Given the description of an element on the screen output the (x, y) to click on. 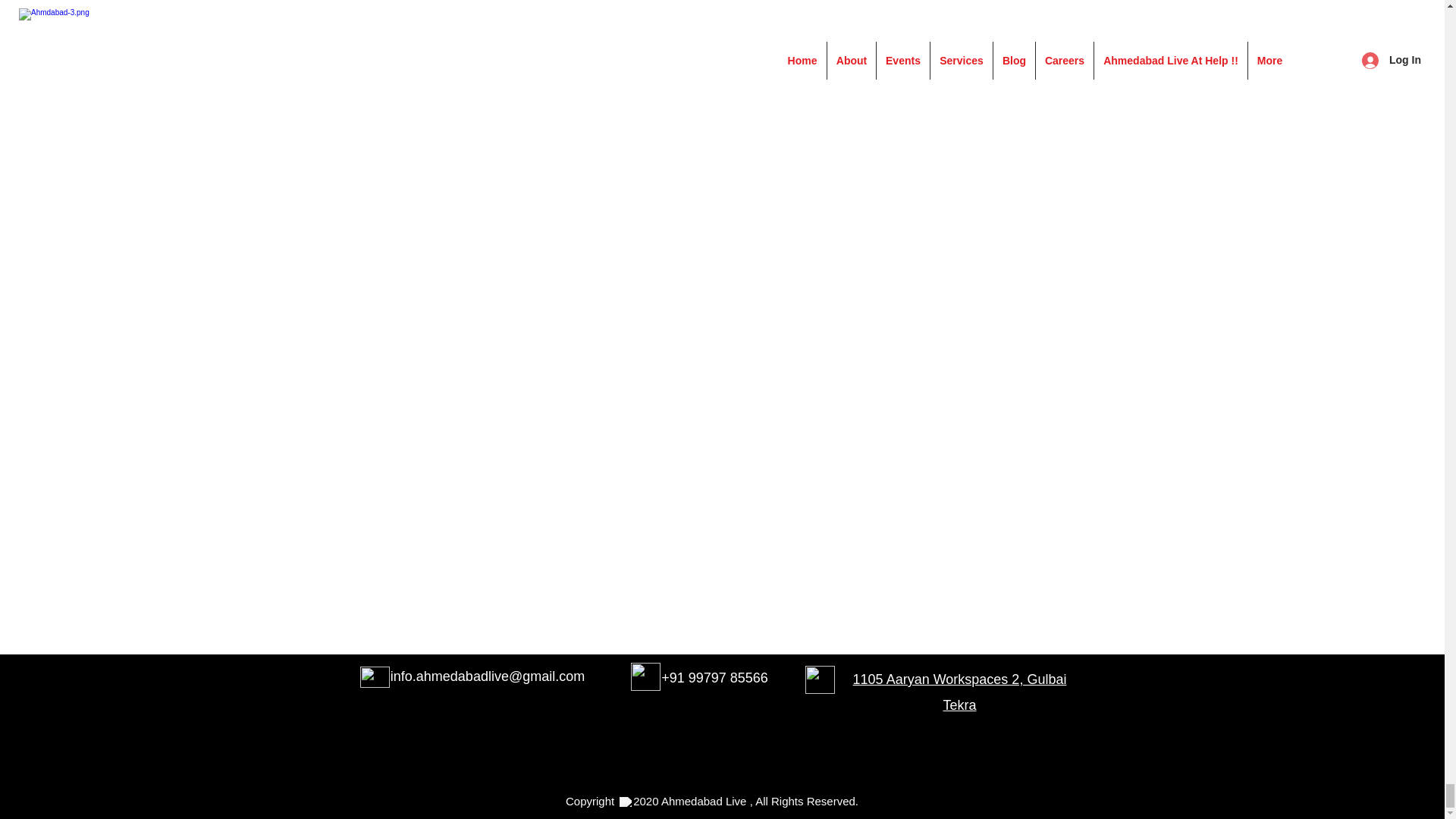
Email (373, 676)
location (819, 679)
Call Now (645, 676)
1105 Aaryan Workspaces 2, Gulbai Tekra (960, 691)
